Given the description of an element on the screen output the (x, y) to click on. 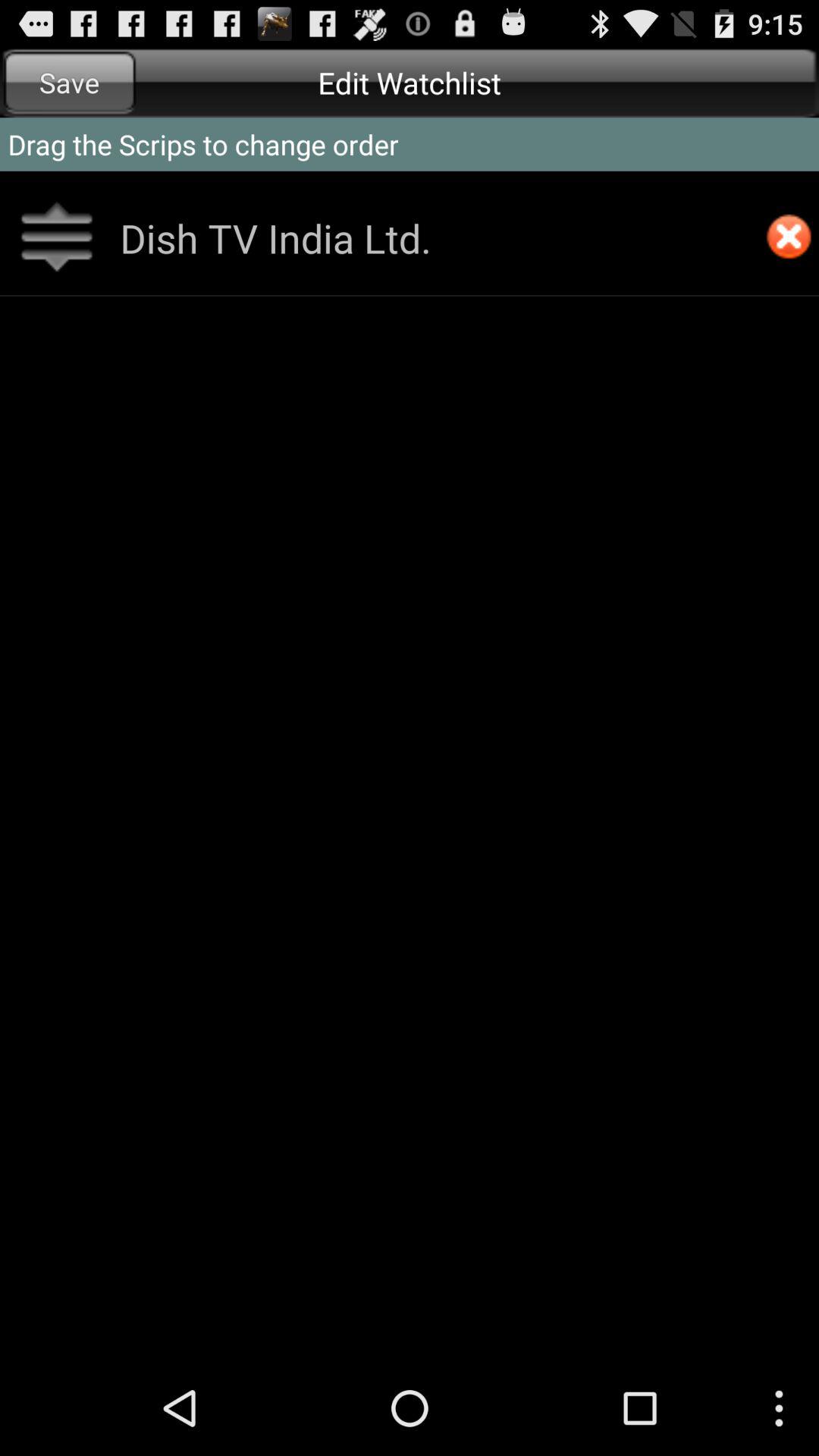
remove from watchlist (788, 238)
